Given the description of an element on the screen output the (x, y) to click on. 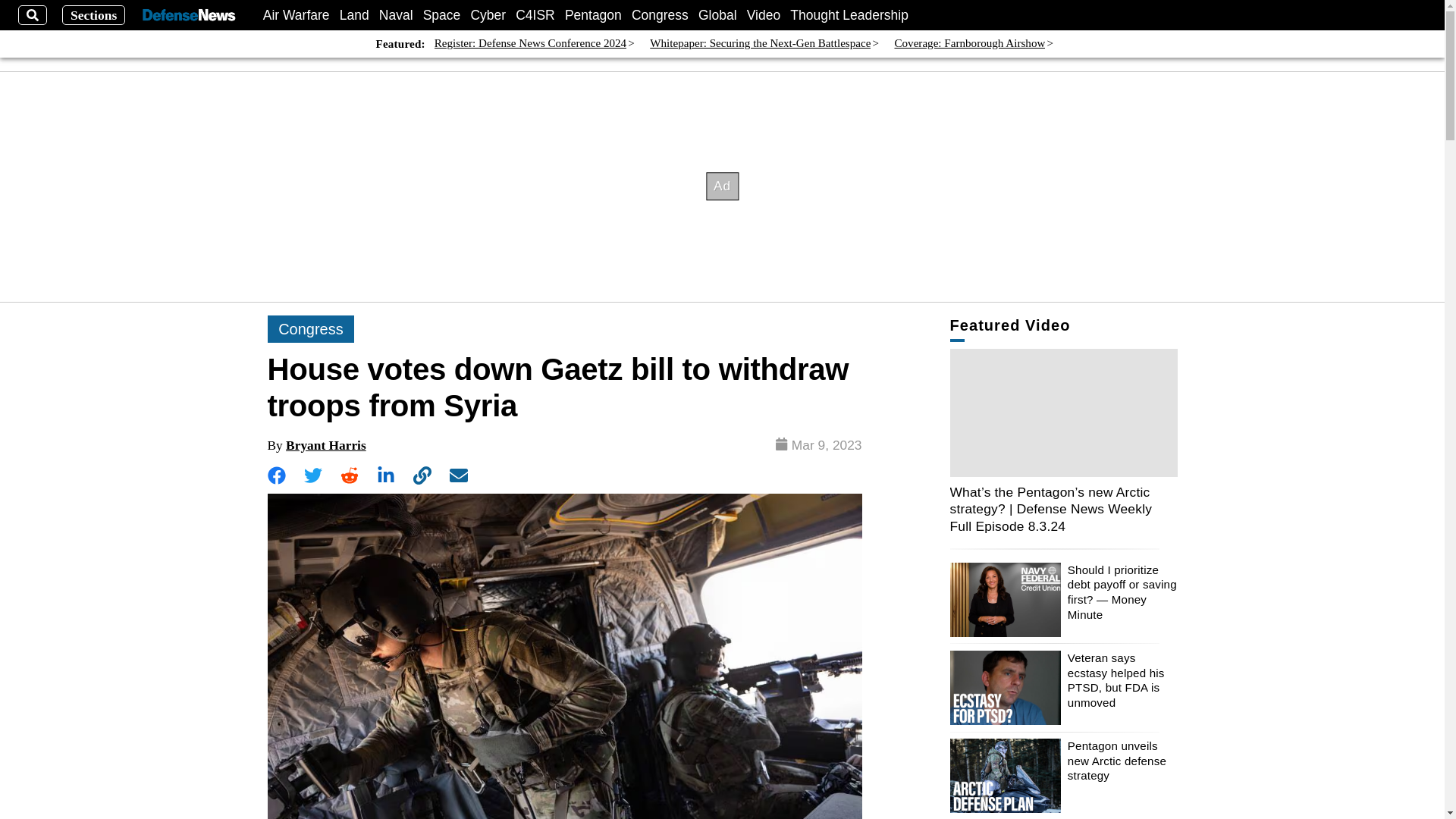
Global (717, 14)
Space (442, 14)
Defense News Logo (188, 14)
Video (763, 14)
Congress (659, 14)
Sections (93, 14)
Naval (395, 14)
Air Warfare (296, 14)
Pentagon (592, 14)
Land (354, 14)
Thought Leadership (849, 14)
